Given the description of an element on the screen output the (x, y) to click on. 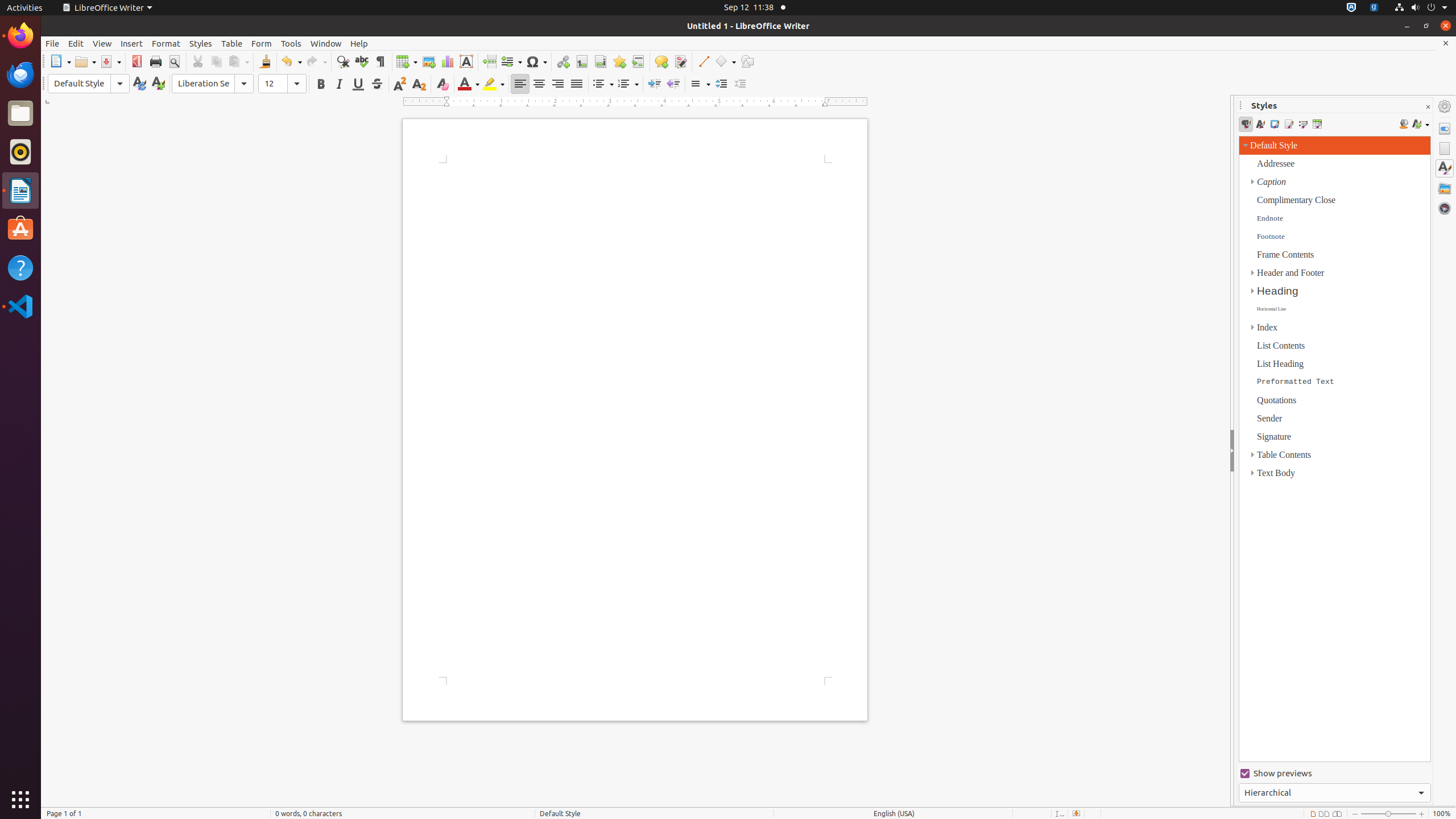
File Element type: menu (51, 43)
View Element type: menu (102, 43)
:1.72/StatusNotifierItem Element type: menu (1350, 7)
Clear Element type: push-button (441, 83)
Endnote Element type: push-button (599, 61)
